Given the description of an element on the screen output the (x, y) to click on. 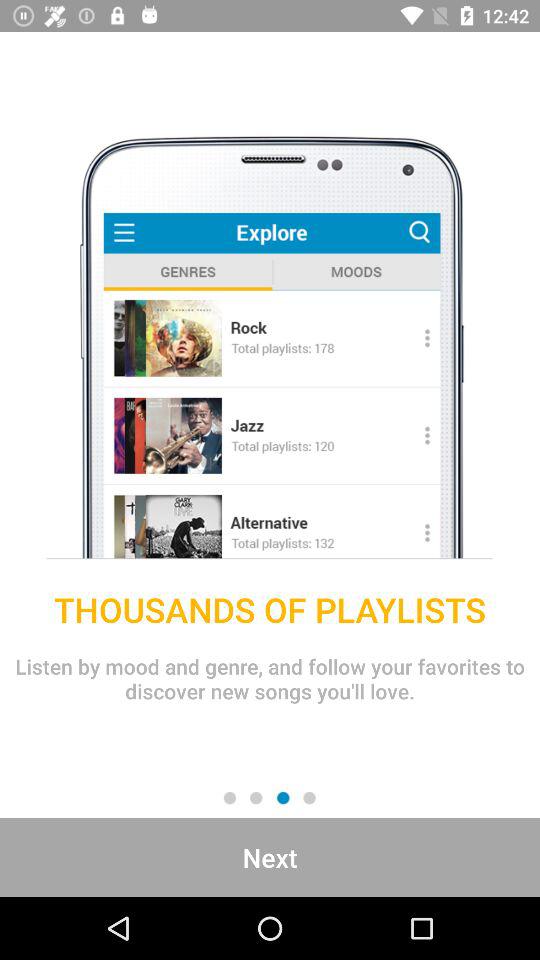
select next (270, 857)
